Given the description of an element on the screen output the (x, y) to click on. 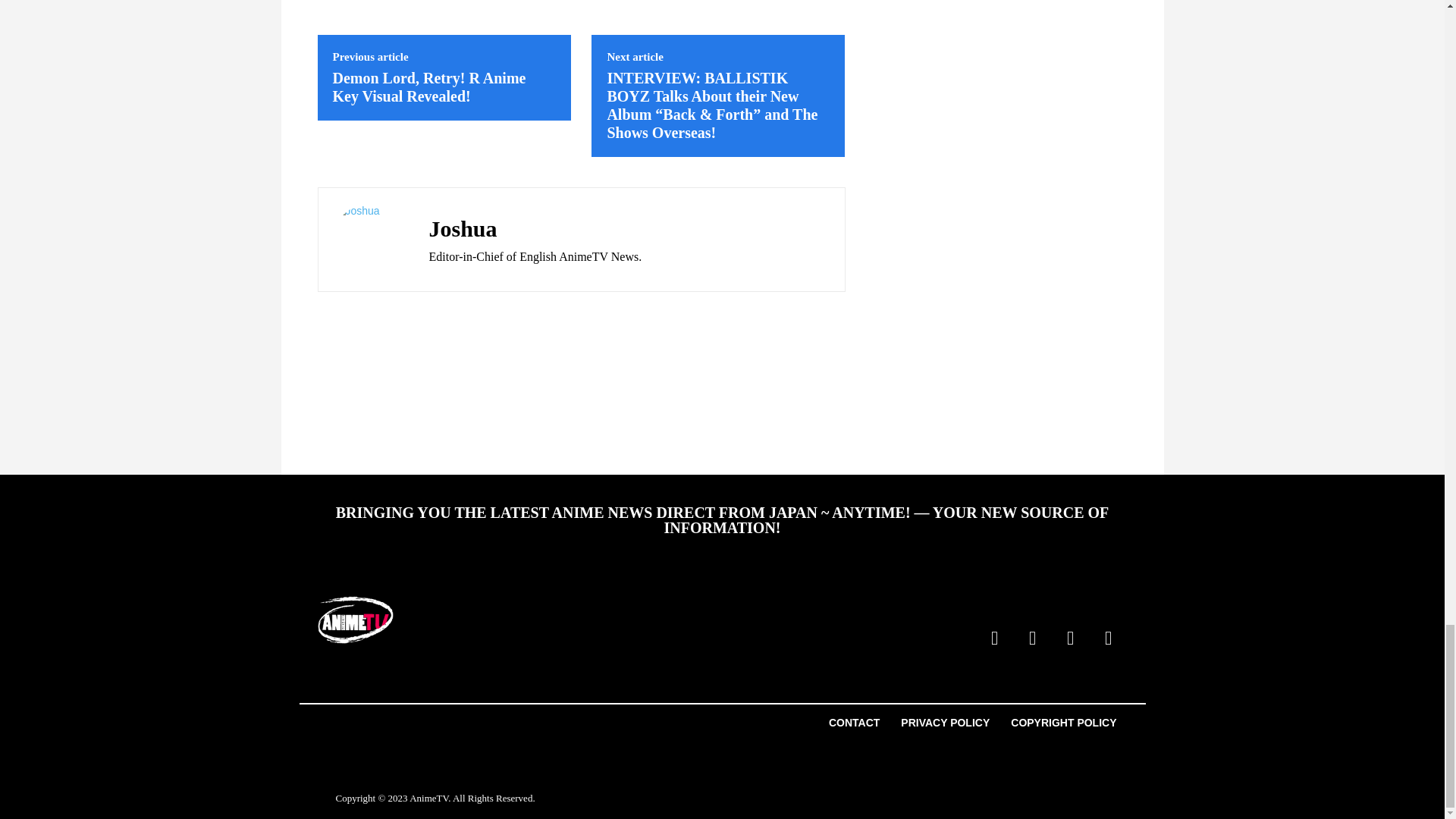
Joshua (535, 228)
Joshua (369, 239)
Demon Lord, Retry! R Anime Key Visual Revealed! (428, 86)
